Given the description of an element on the screen output the (x, y) to click on. 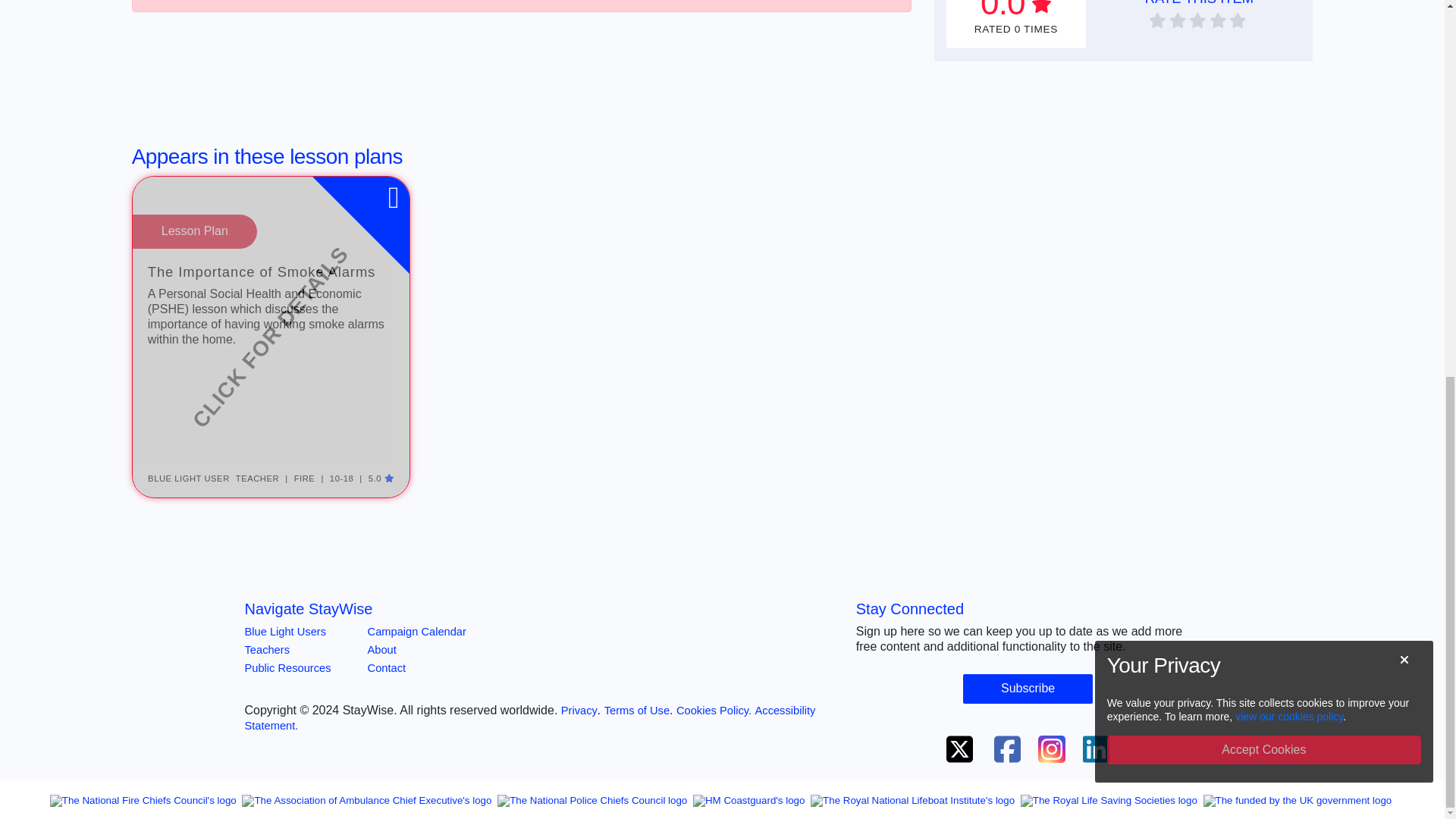
About (382, 623)
Campaign Calendar (416, 605)
Privacy (578, 684)
Terms of Use (636, 684)
Subscribe (1027, 663)
Public Resources (287, 642)
Cookies Policy. (714, 684)
Blue Light Users (285, 605)
Teachers (266, 623)
Accessibility Statement. (529, 691)
